Given the description of an element on the screen output the (x, y) to click on. 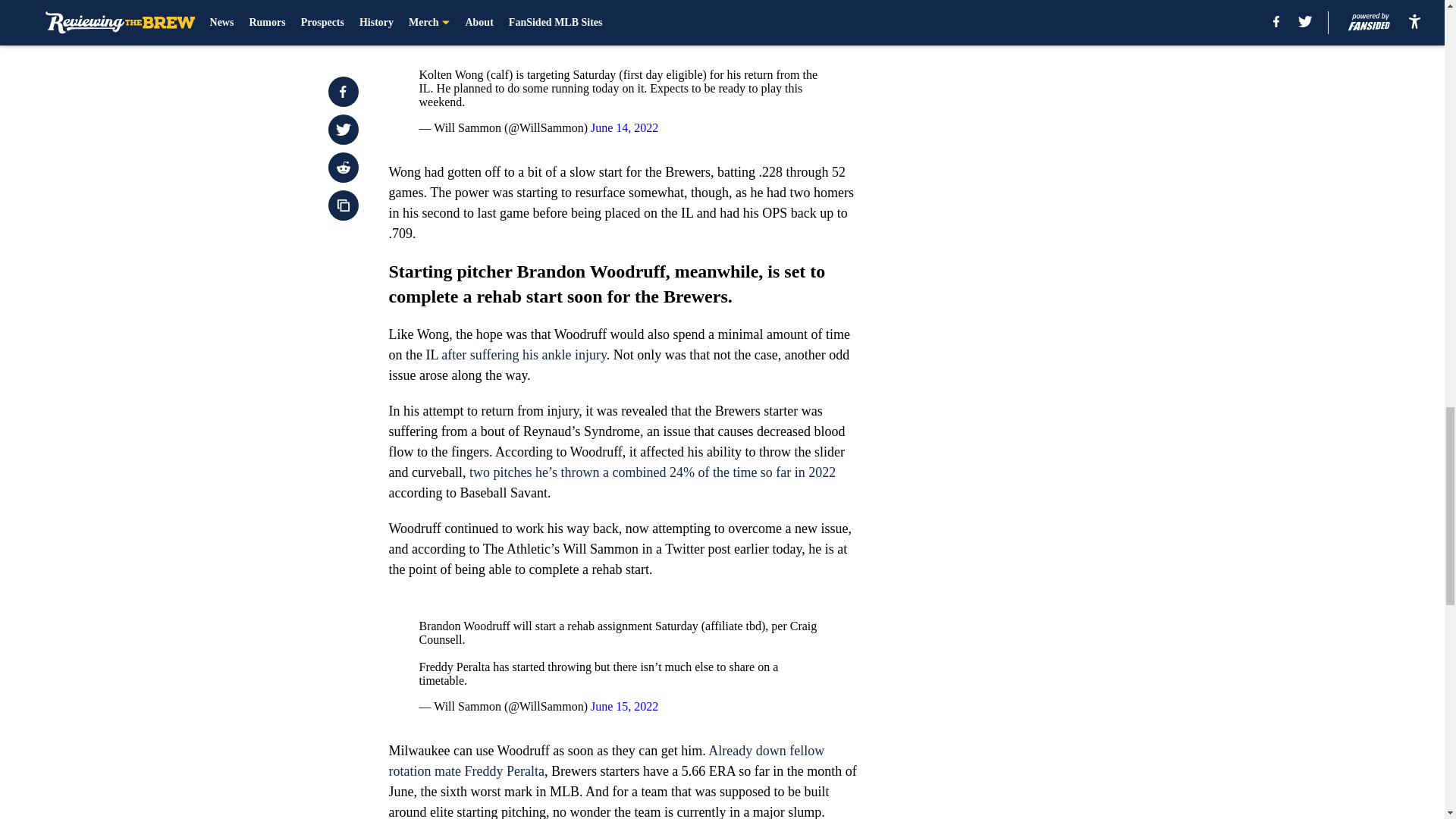
after suffering his ankle injury (523, 354)
Already down fellow rotation mate Freddy Peralta (606, 760)
June 14, 2022 (624, 127)
June 15, 2022 (624, 706)
